Given the description of an element on the screen output the (x, y) to click on. 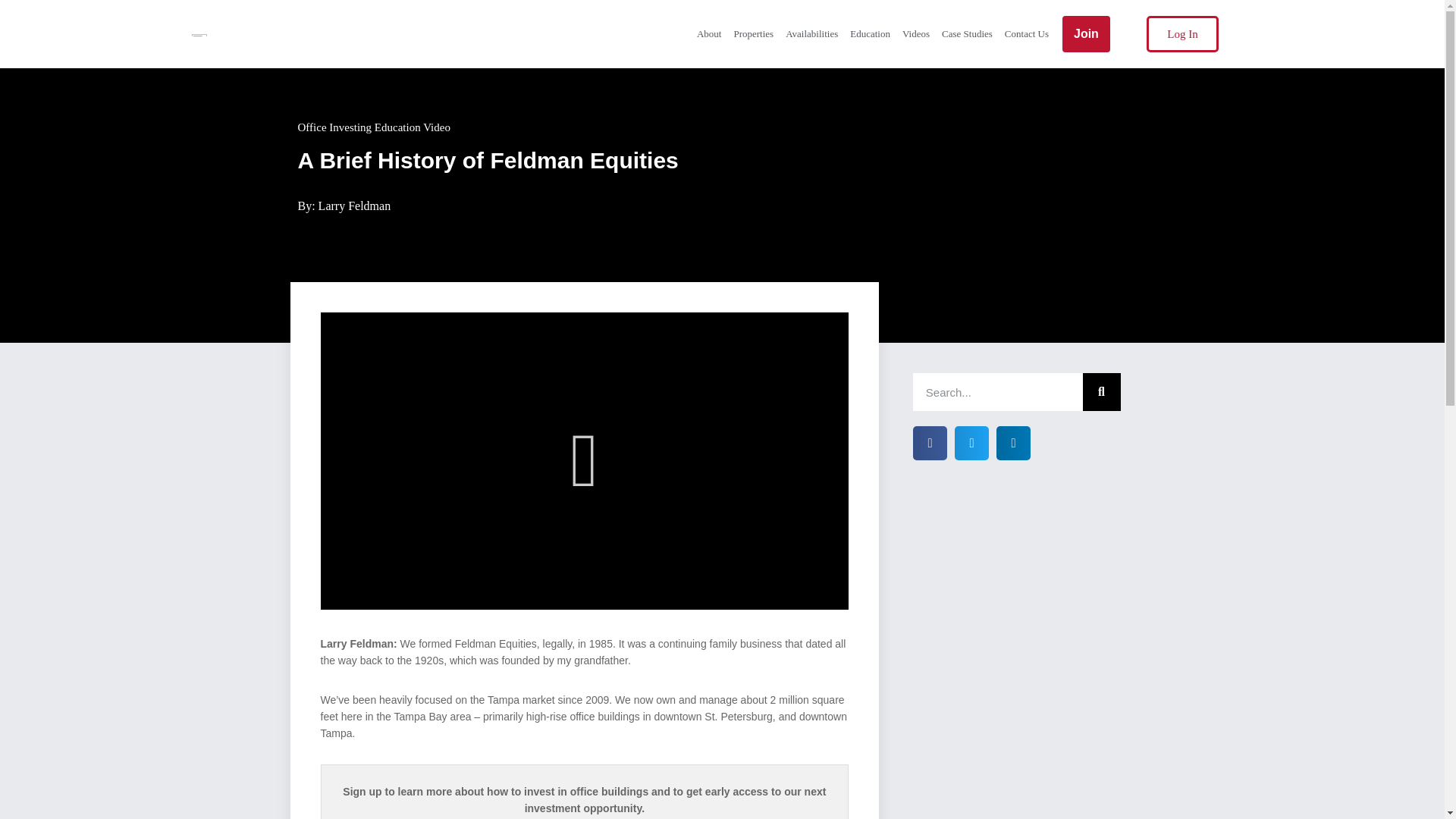
Case Studies (967, 33)
Availabilities (811, 33)
